Given the description of an element on the screen output the (x, y) to click on. 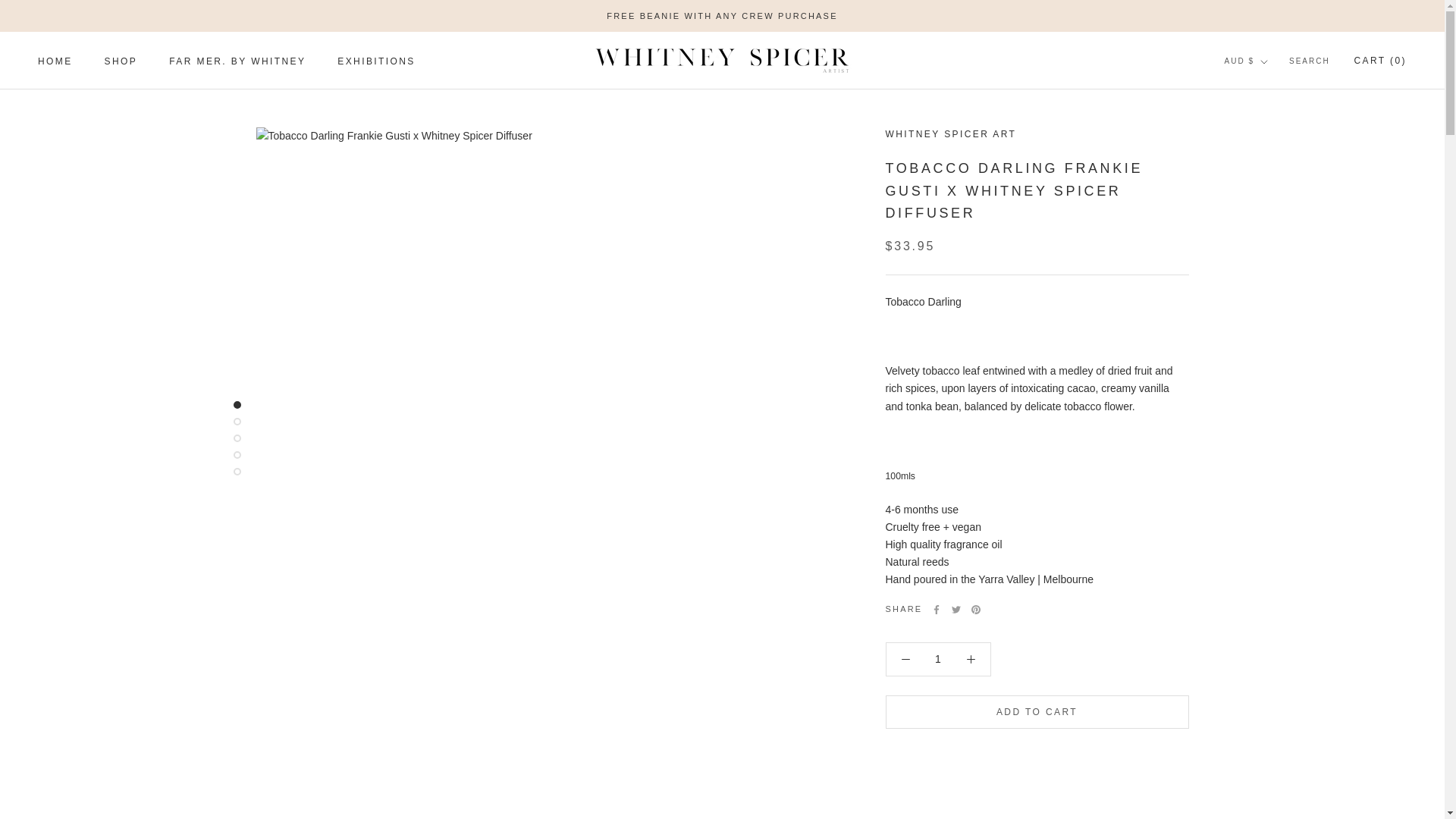
FAR MER. BY WHITNEY (236, 61)
FREE BEANIE WITH ANY CREW PURCHASE (722, 15)
SHOP (121, 61)
1 (54, 61)
